Given the description of an element on the screen output the (x, y) to click on. 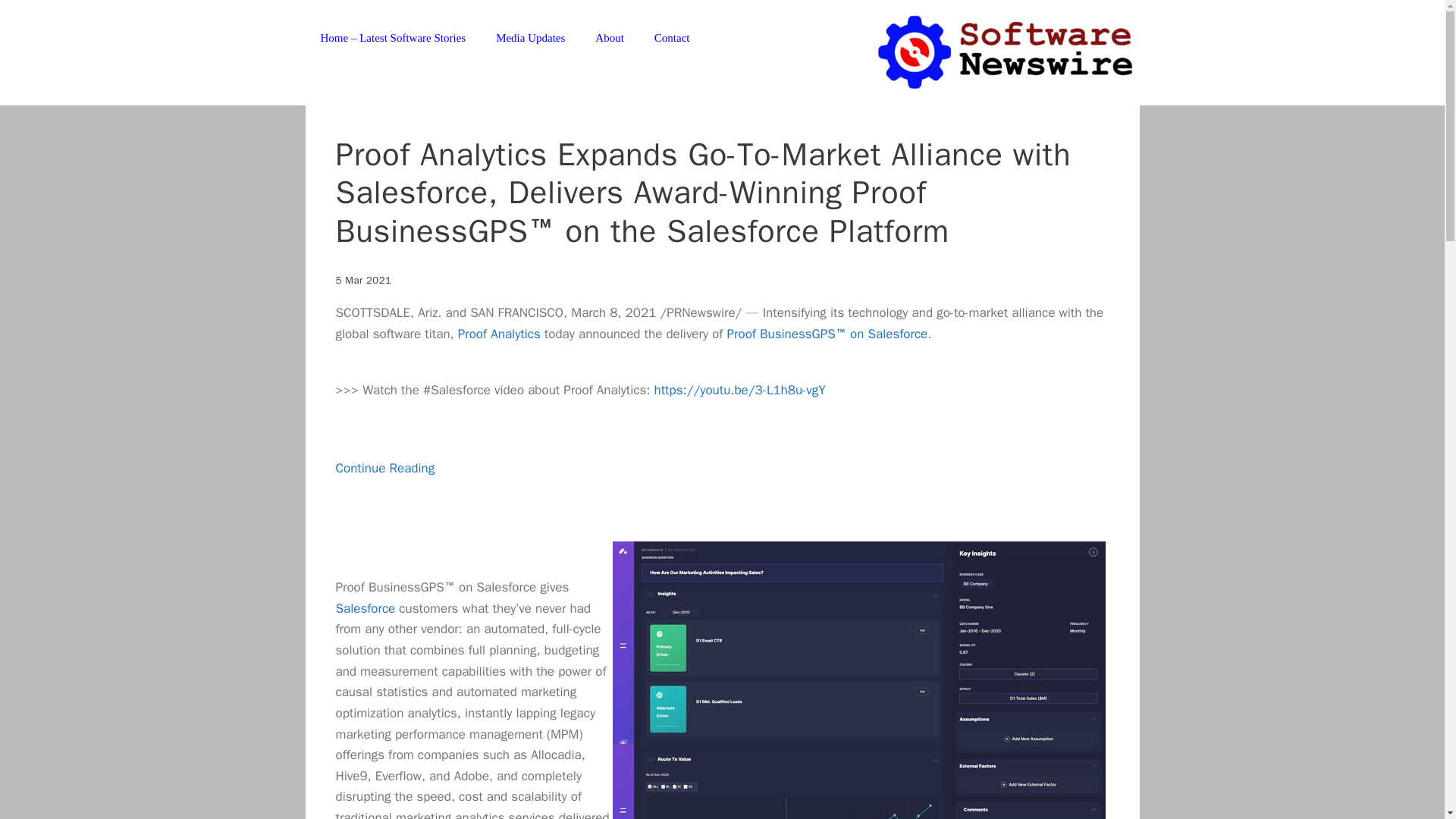
Contact (671, 37)
Continue Reading (383, 488)
Salesforce (364, 608)
About (609, 37)
Continue Reading (383, 488)
Media Updates (529, 37)
Proof Analytics (499, 333)
